Given the description of an element on the screen output the (x, y) to click on. 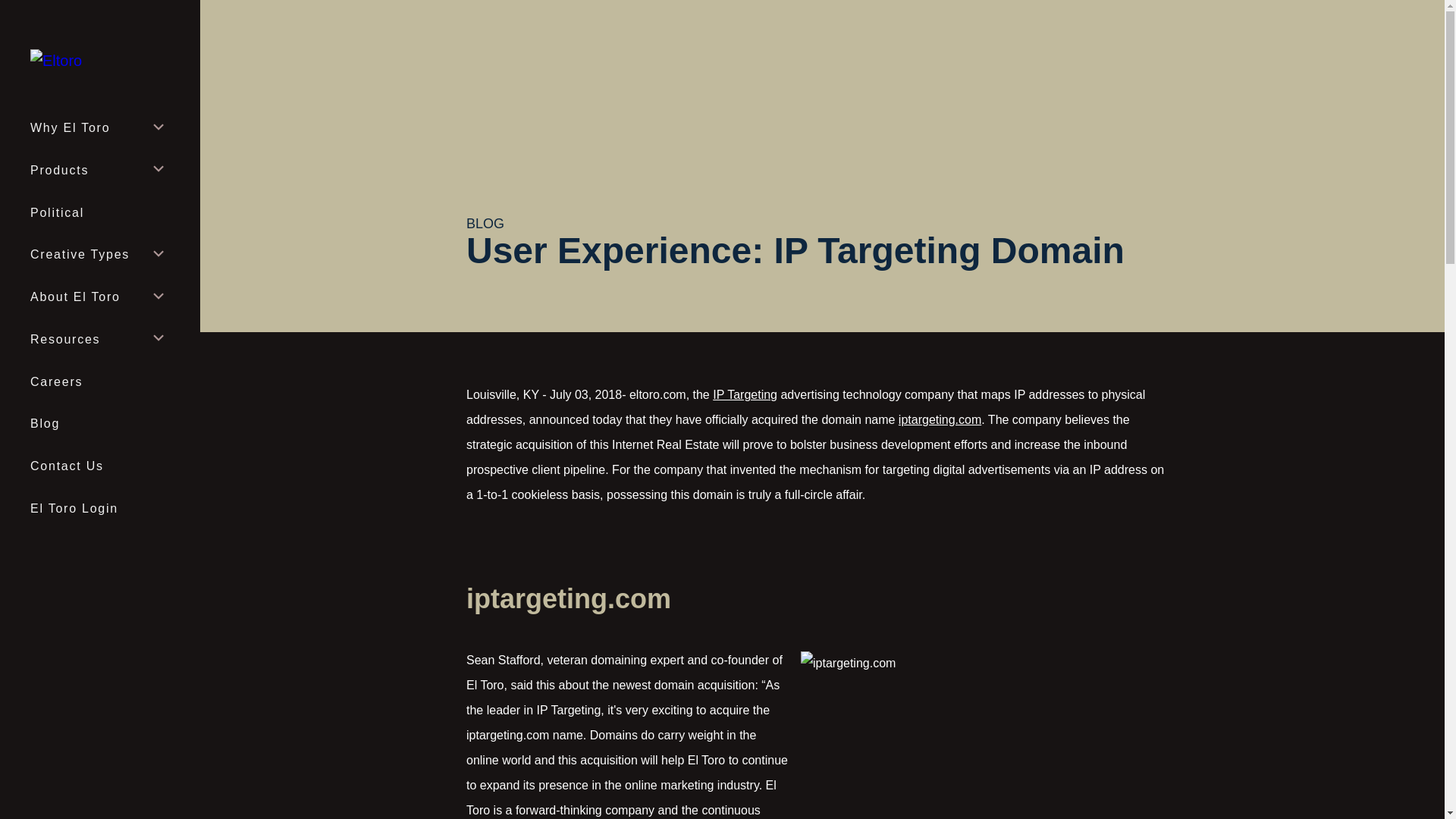
Products (99, 170)
Careers (99, 382)
Political (99, 212)
Contact Us (99, 466)
Blog (99, 424)
About El Toro (99, 297)
Creative Types (99, 254)
Resources (99, 339)
Why El Toro (99, 128)
El Toro Login (99, 508)
